Given the description of an element on the screen output the (x, y) to click on. 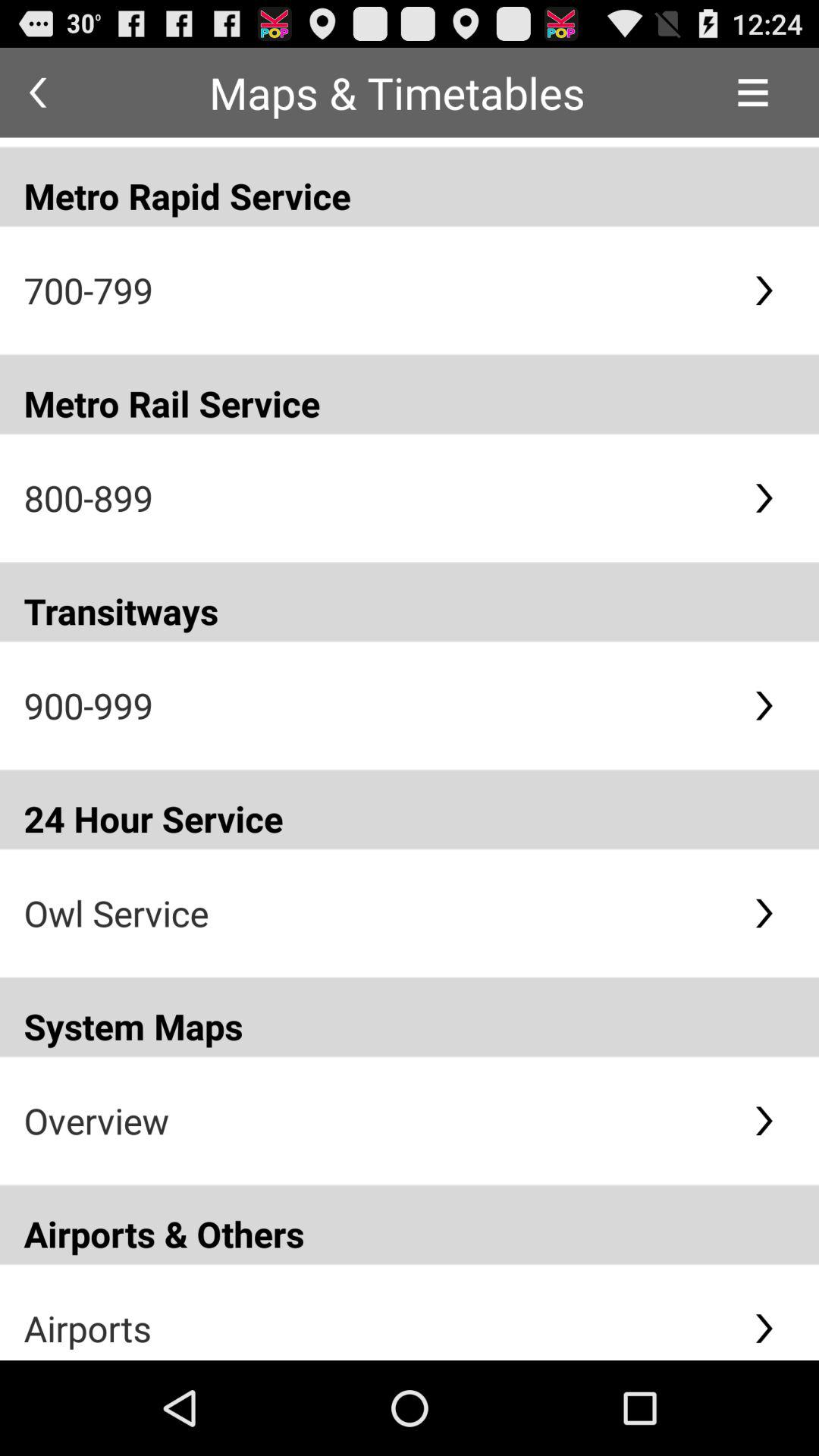
click item to the left of the maps & timetables (37, 92)
